Given the description of an element on the screen output the (x, y) to click on. 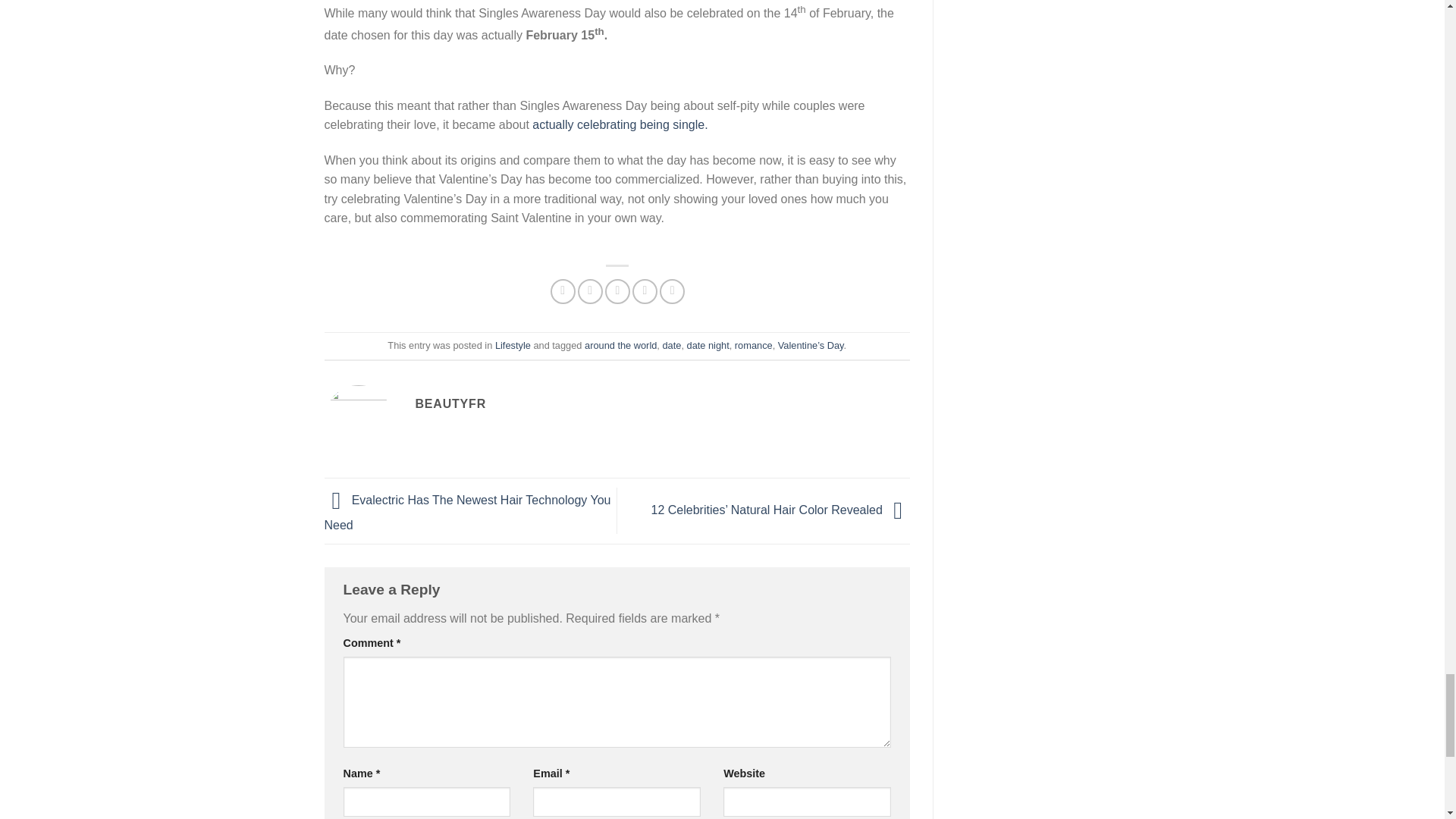
Share on LinkedIn (671, 291)
Share on Twitter (590, 291)
Email to a Friend (617, 291)
Share on Facebook (562, 291)
Pin on Pinterest (644, 291)
